Given the description of an element on the screen output the (x, y) to click on. 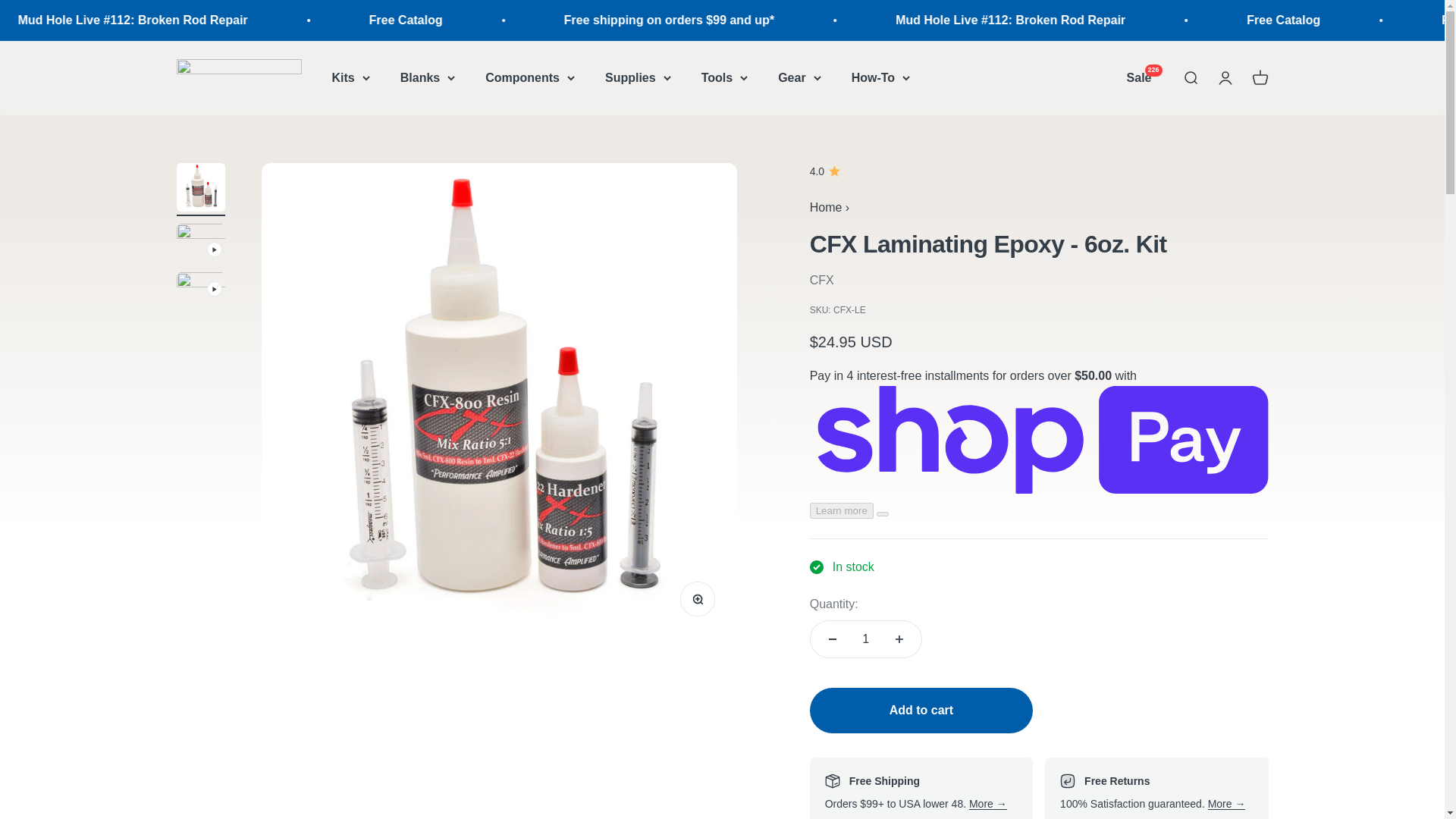
Free Catalog (546, 19)
Refund Policy (1227, 803)
Home (826, 206)
1 (865, 638)
1 review (1038, 170)
Shipping Policy (988, 803)
